Given the description of an element on the screen output the (x, y) to click on. 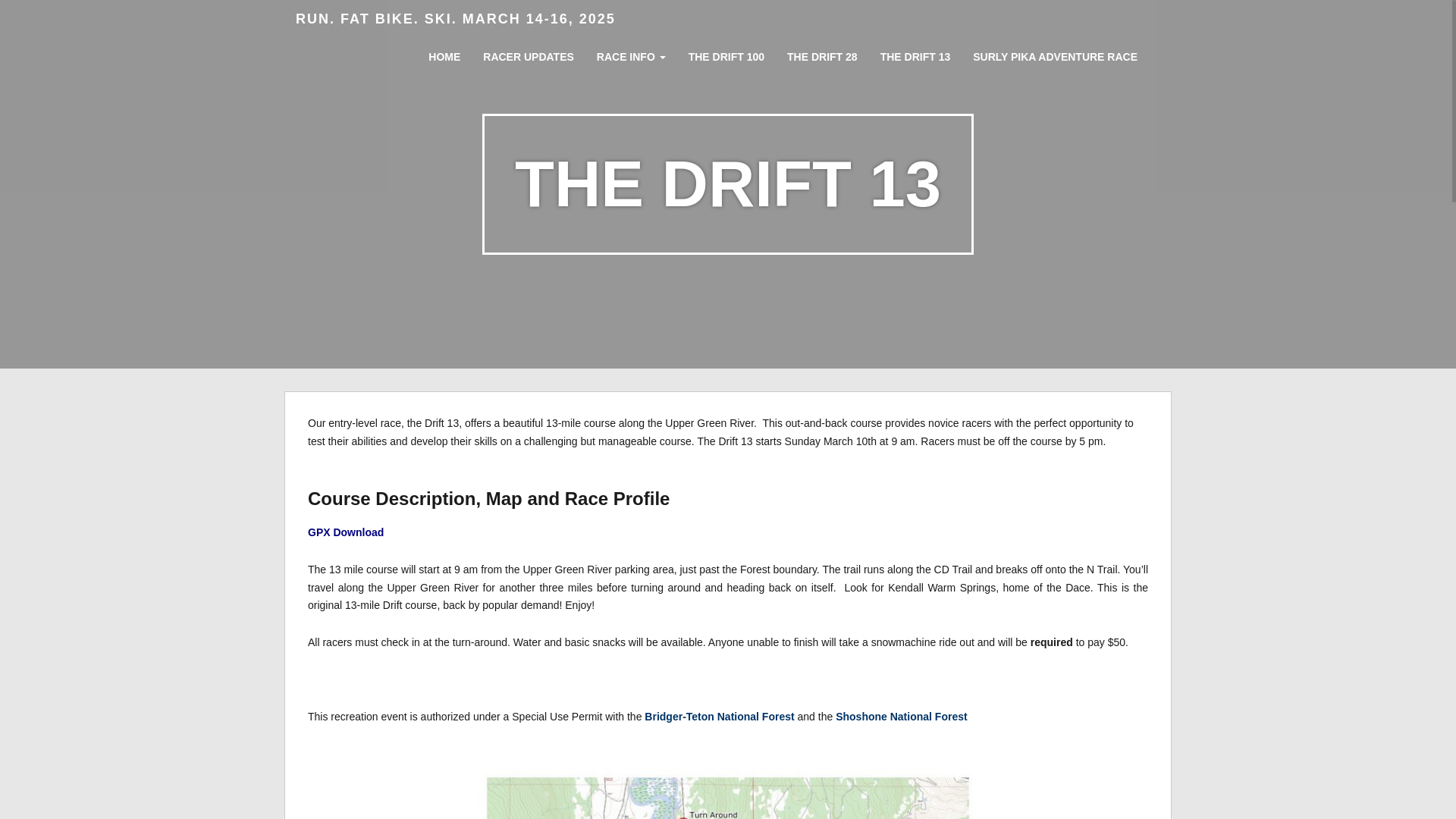
RACE INFO (630, 52)
The Drift 100 (726, 52)
GPX Download (345, 532)
RACER UPDATES (528, 52)
The Drift 13 (915, 53)
THE DRIFT 100 (726, 52)
RACE INFO (630, 52)
Bridger-Teton National Forest (719, 716)
Shoshone National Forest (900, 716)
Racer Updates (528, 52)
